Given the description of an element on the screen output the (x, y) to click on. 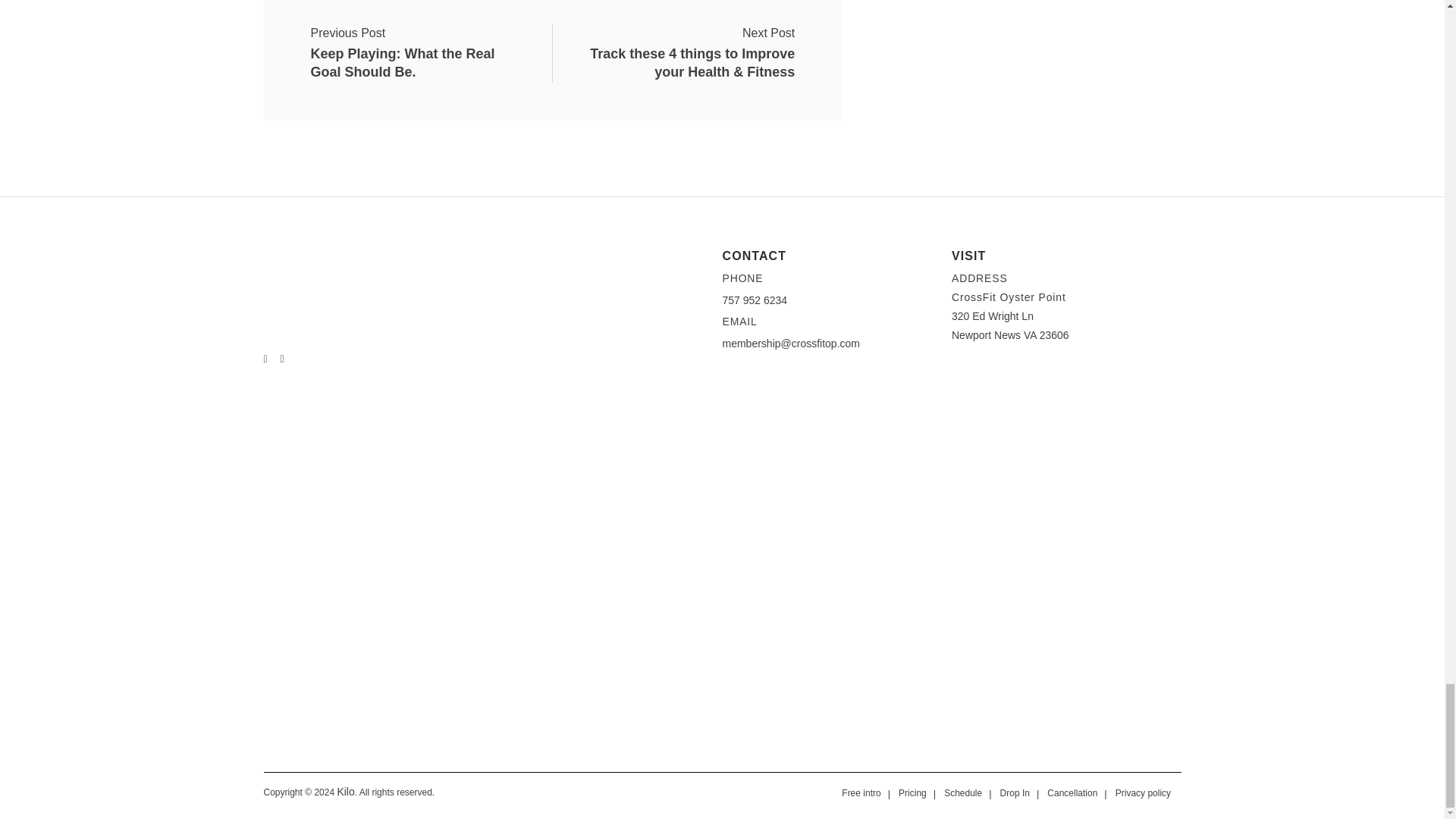
Keep Playing: What the Real Goal Should Be. (430, 45)
